Given the description of an element on the screen output the (x, y) to click on. 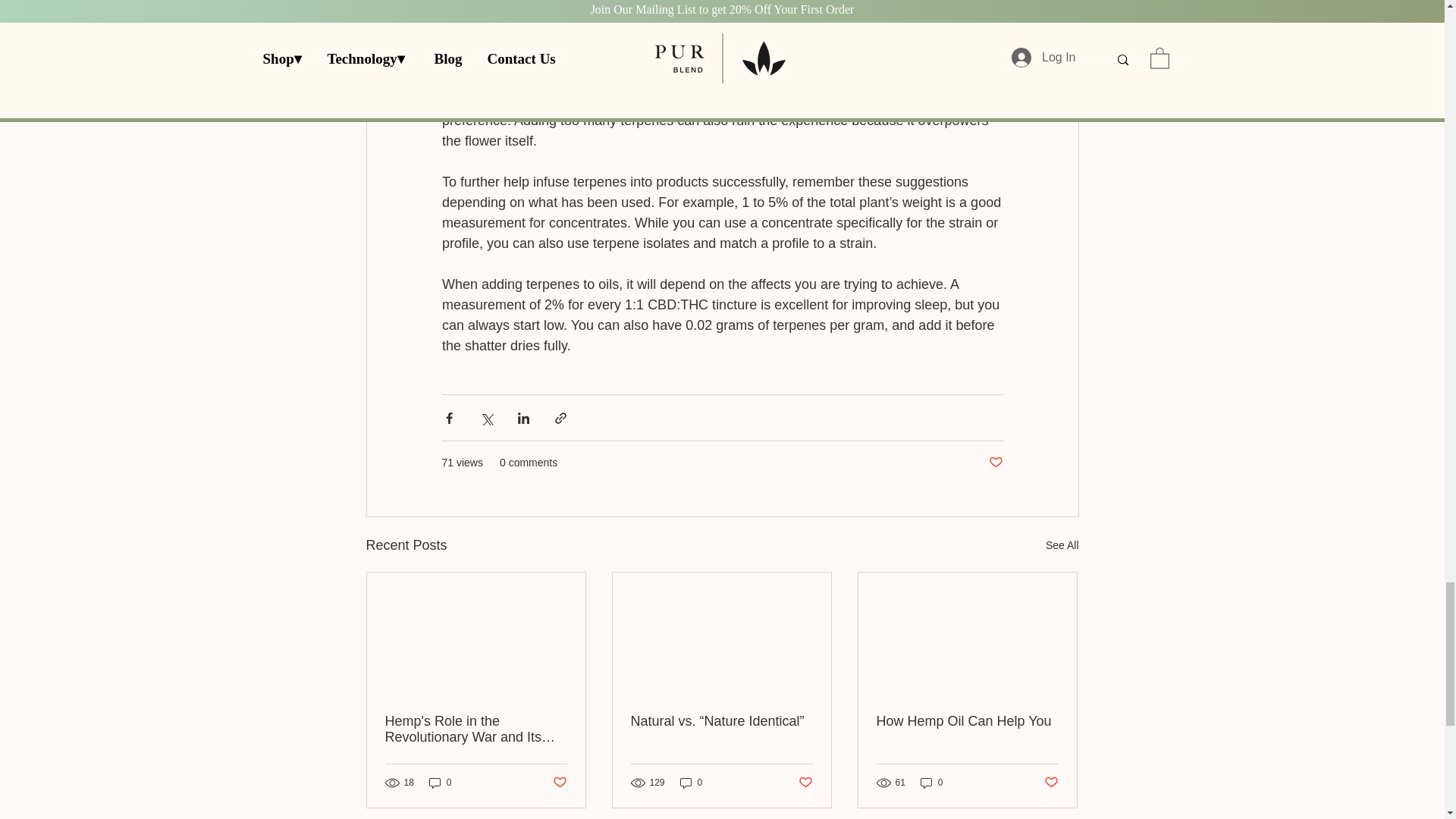
Hemp's Role in the Revolutionary War and Its Economic Impact (476, 729)
0 (931, 782)
Post not marked as liked (804, 782)
See All (1061, 545)
0 (440, 782)
Post not marked as liked (995, 462)
Post not marked as liked (1050, 782)
0 (691, 782)
How Hemp Oil Can Help You (967, 721)
Post not marked as liked (558, 782)
